Given the description of an element on the screen output the (x, y) to click on. 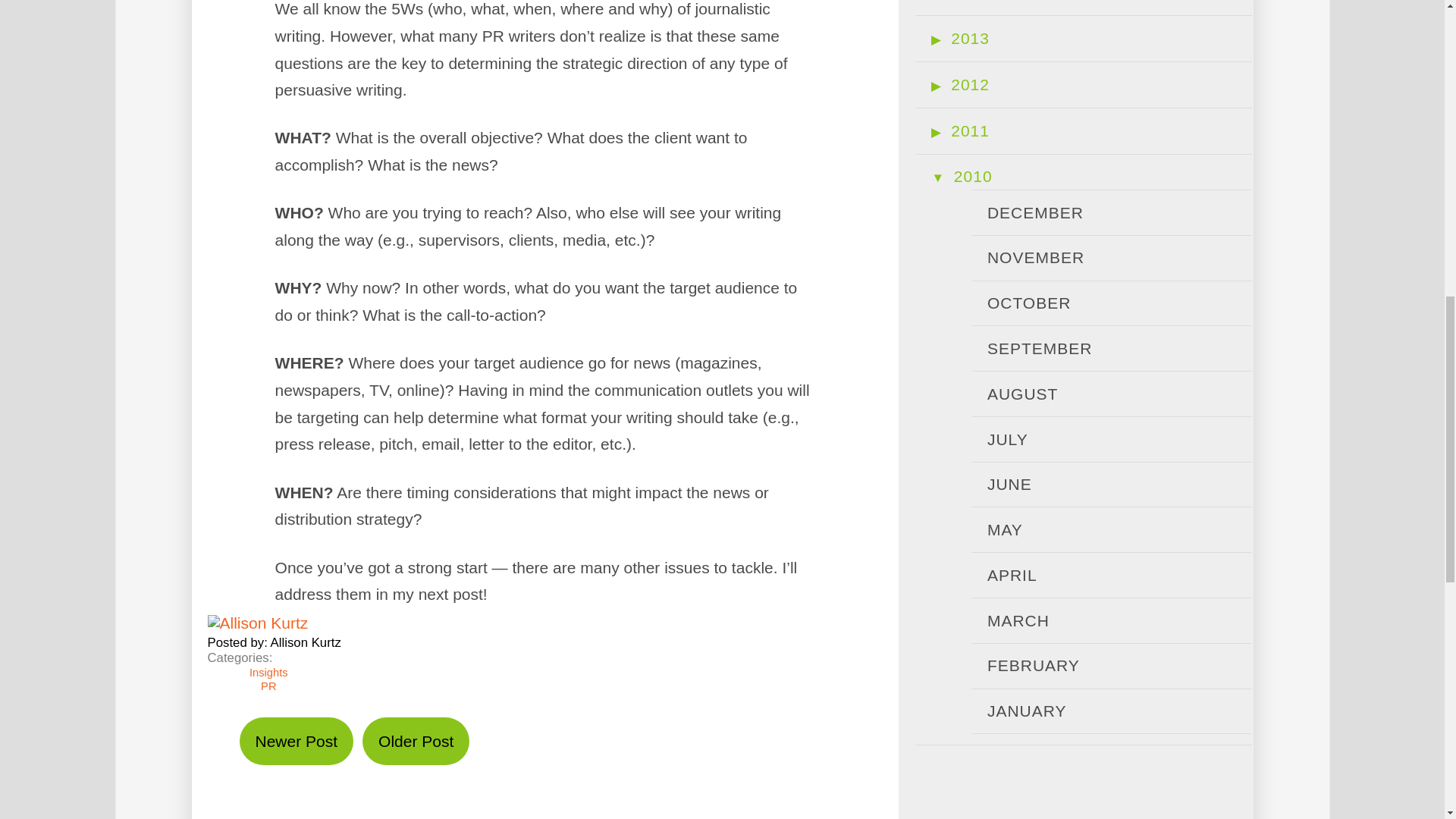
Insights (274, 672)
PR (274, 685)
Newer Post (296, 740)
Older Post (415, 740)
